Given the description of an element on the screen output the (x, y) to click on. 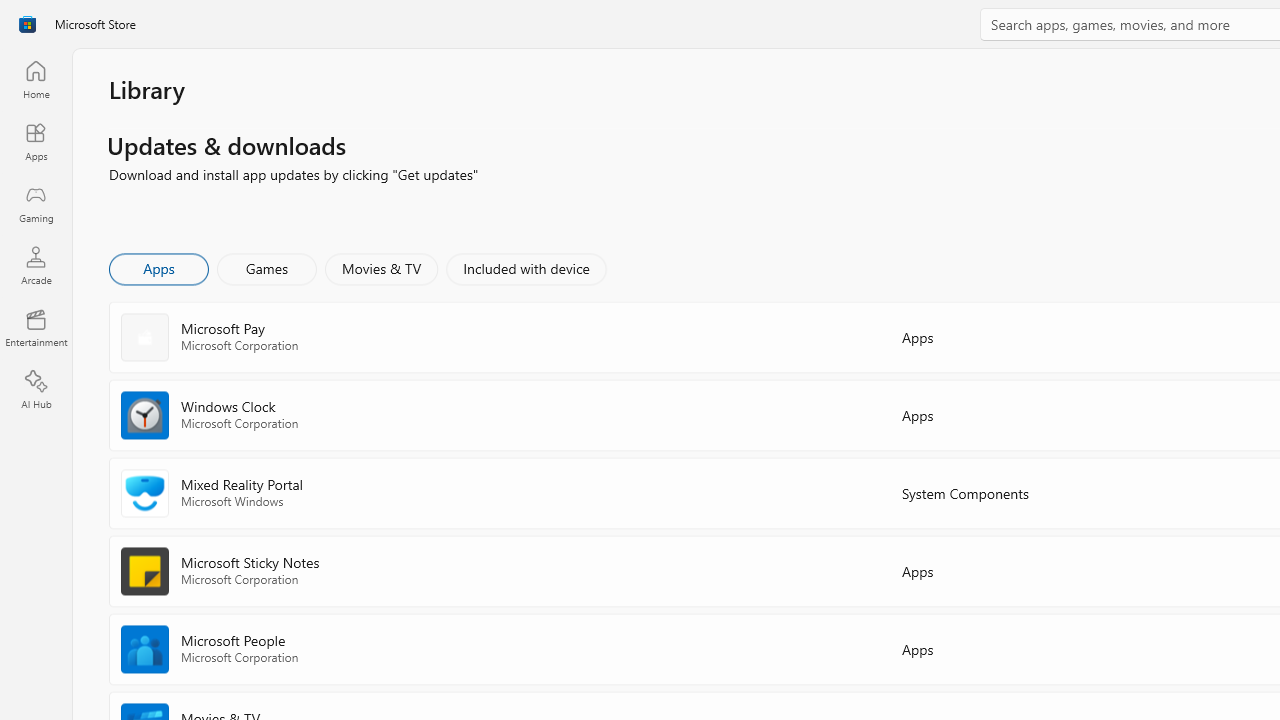
AI Hub (35, 390)
Gaming (35, 203)
Included with device (525, 268)
Games (267, 268)
Apps (35, 141)
Apps (158, 268)
Class: Image (27, 24)
Arcade (35, 265)
Movies & TV (381, 268)
Home (35, 79)
Entertainment (35, 327)
